Given the description of an element on the screen output the (x, y) to click on. 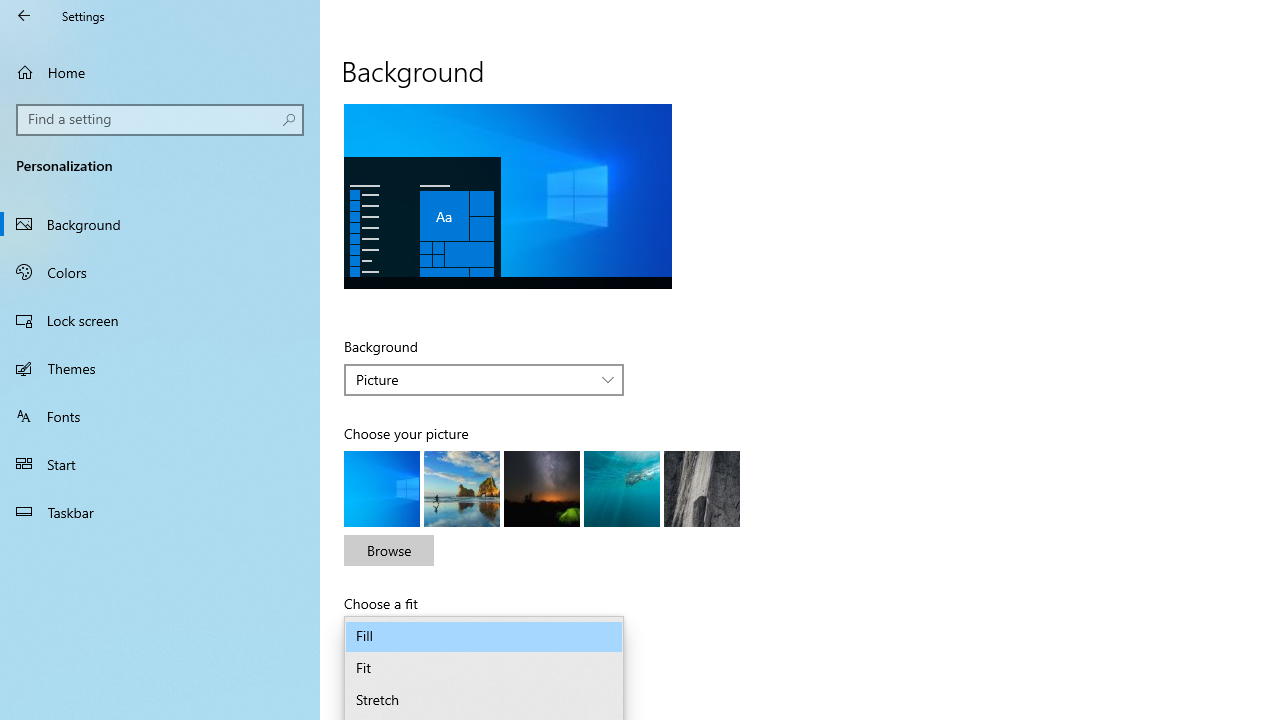
Fill (484, 636)
Home (160, 71)
Background (160, 223)
Browse (388, 549)
Picture (473, 379)
Fonts (160, 415)
Fit (484, 668)
Lock screen (160, 319)
Choose a fit (484, 636)
Background (484, 380)
Windows Spotlight Image (701, 488)
Search box, Find a setting (160, 119)
Stretch (484, 700)
Taskbar (160, 511)
